Given the description of an element on the screen output the (x, y) to click on. 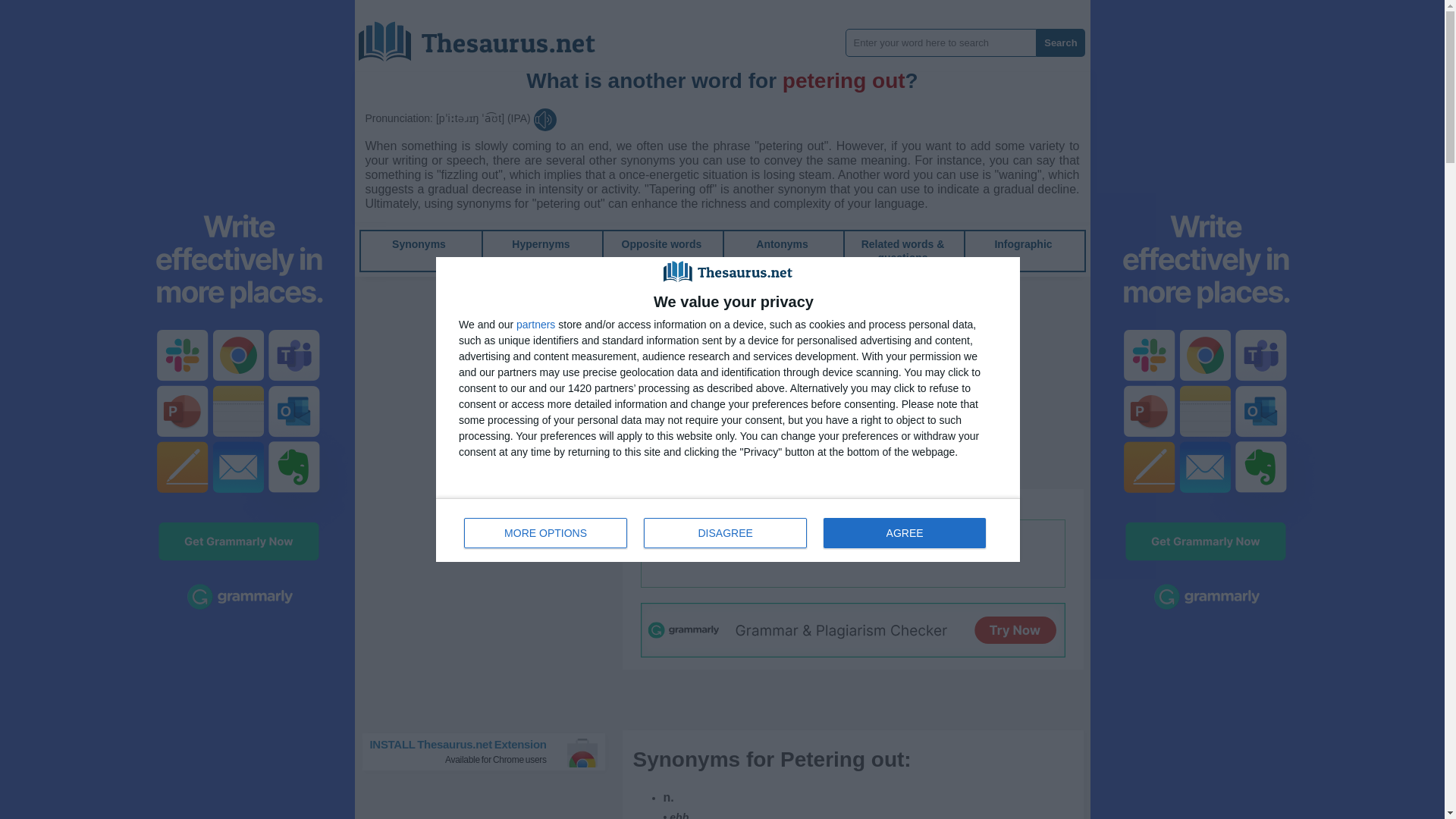
partners (727, 529)
Opposite words (535, 324)
Thesaurus.net (661, 244)
MORE OPTIONS (487, 35)
Search (545, 532)
Antonyms (1060, 42)
Infographic (781, 244)
Antonyms (1022, 244)
Hypernyms (781, 244)
Synonyms (540, 244)
Hypernyms (418, 244)
Infographic (540, 244)
Opposite words (1022, 244)
DISAGREE (661, 244)
